Given the description of an element on the screen output the (x, y) to click on. 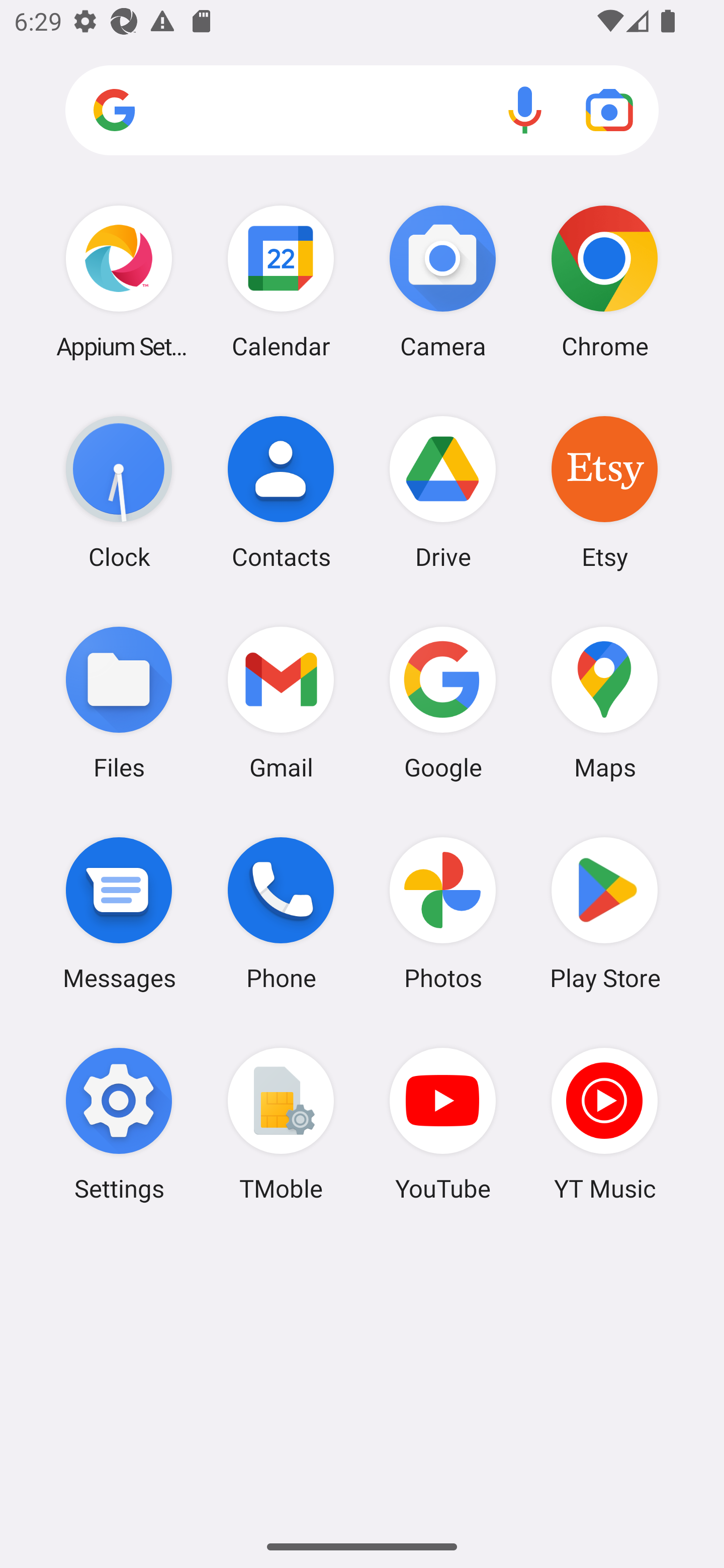
Search apps, web and more (361, 110)
Voice search (524, 109)
Google Lens (608, 109)
Appium Settings (118, 281)
Calendar (280, 281)
Camera (443, 281)
Chrome (604, 281)
Clock (118, 492)
Contacts (280, 492)
Drive (443, 492)
Etsy (604, 492)
Files (118, 702)
Gmail (280, 702)
Google (443, 702)
Maps (604, 702)
Messages (118, 913)
Phone (280, 913)
Photos (443, 913)
Play Store (604, 913)
Settings (118, 1124)
TMoble (280, 1124)
YouTube (443, 1124)
YT Music (604, 1124)
